Given the description of an element on the screen output the (x, y) to click on. 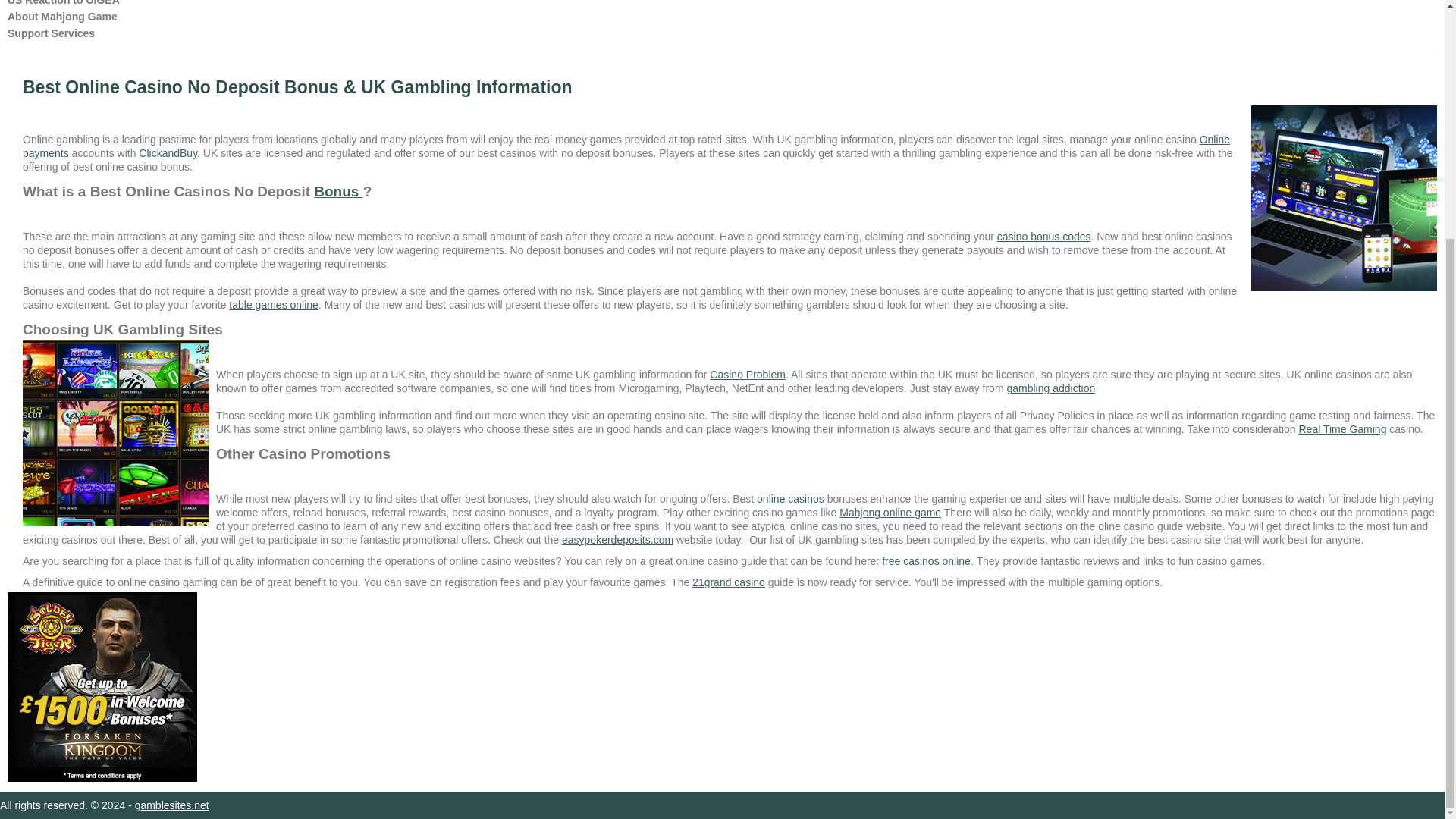
Support Services (50, 33)
free casinos online (926, 561)
casino bonus codes (1043, 236)
easypokerdeposits.com (617, 539)
ClickandBuy (167, 152)
21grand casino (729, 582)
gambling addiction (1050, 387)
visit this site (617, 539)
About Mahjong Game (62, 16)
gamblesites.net (172, 805)
Casino Problem (748, 374)
online casinos (792, 499)
Mahjong online game (890, 512)
Online payments (626, 145)
table games online (273, 304)
